Given the description of an element on the screen output the (x, y) to click on. 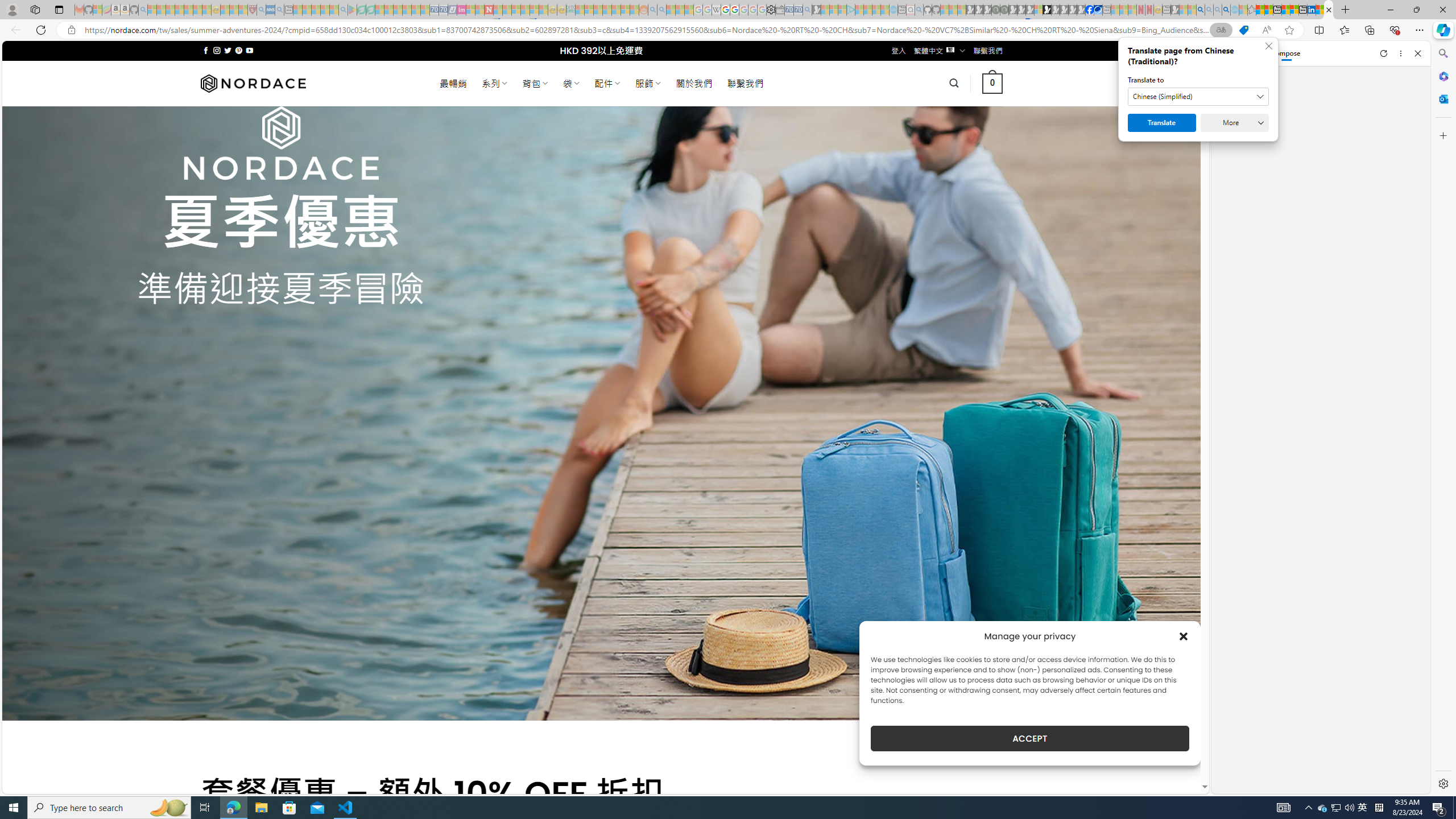
Jobs - lastminute.com Investor Portal - Sleeping (461, 9)
LinkedIn (1311, 9)
ACCEPT (1029, 738)
Follow on Pinterest (237, 50)
